Given the description of an element on the screen output the (x, y) to click on. 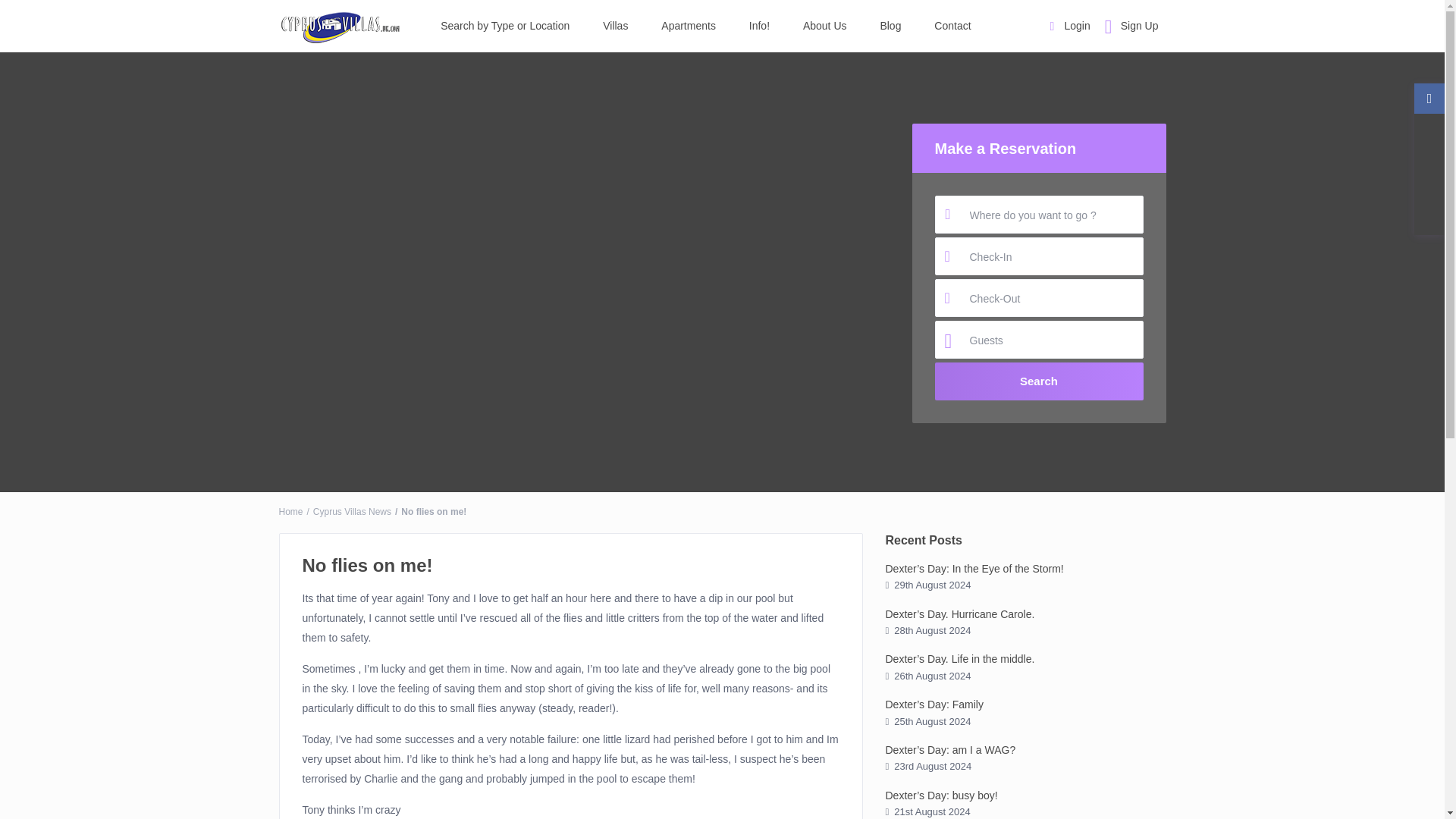
Search (1038, 381)
Search by Type or Location (505, 25)
Search (1038, 381)
